Given the description of an element on the screen output the (x, y) to click on. 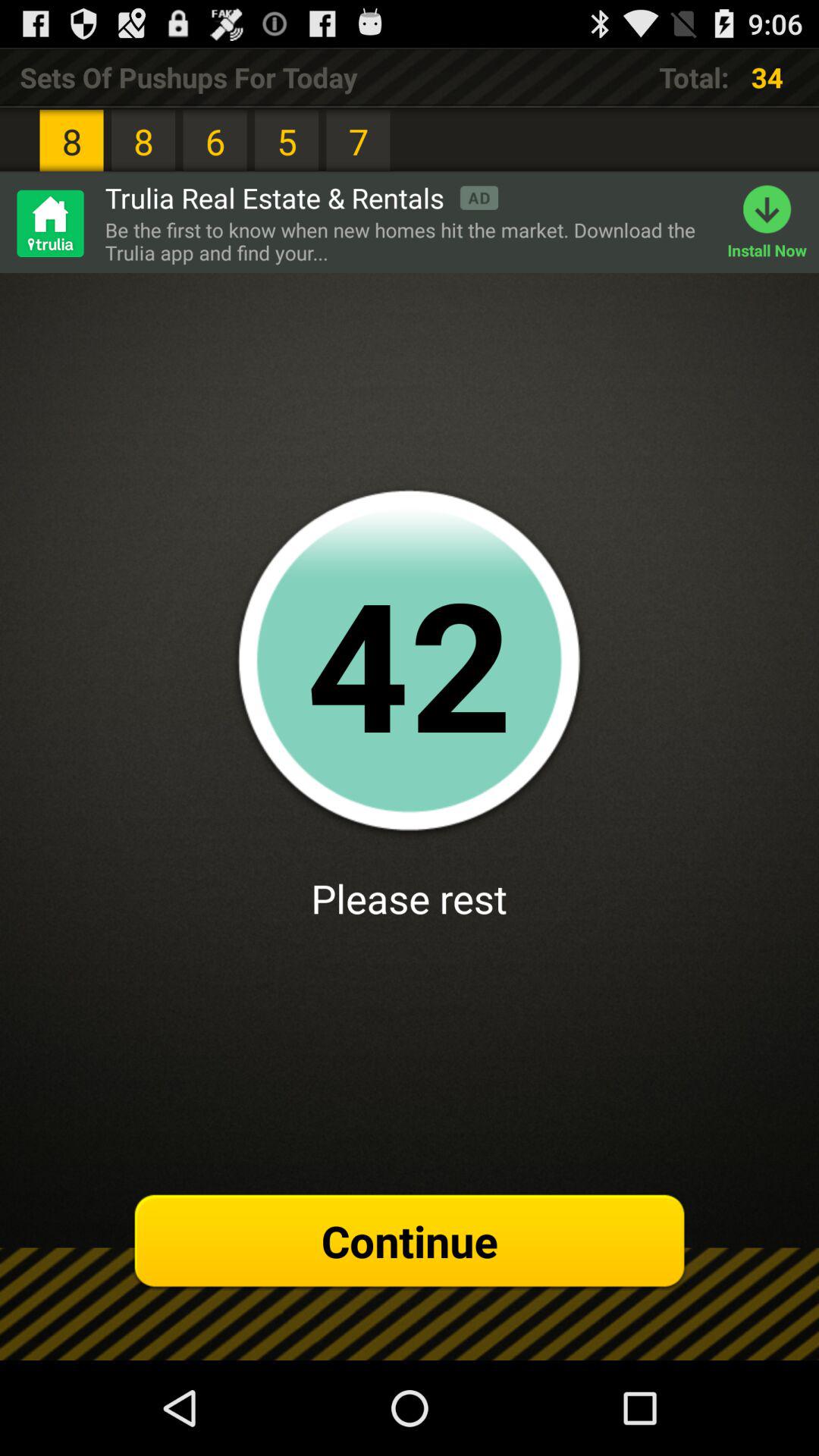
turn off app to the right of be the first app (773, 223)
